Given the description of an element on the screen output the (x, y) to click on. 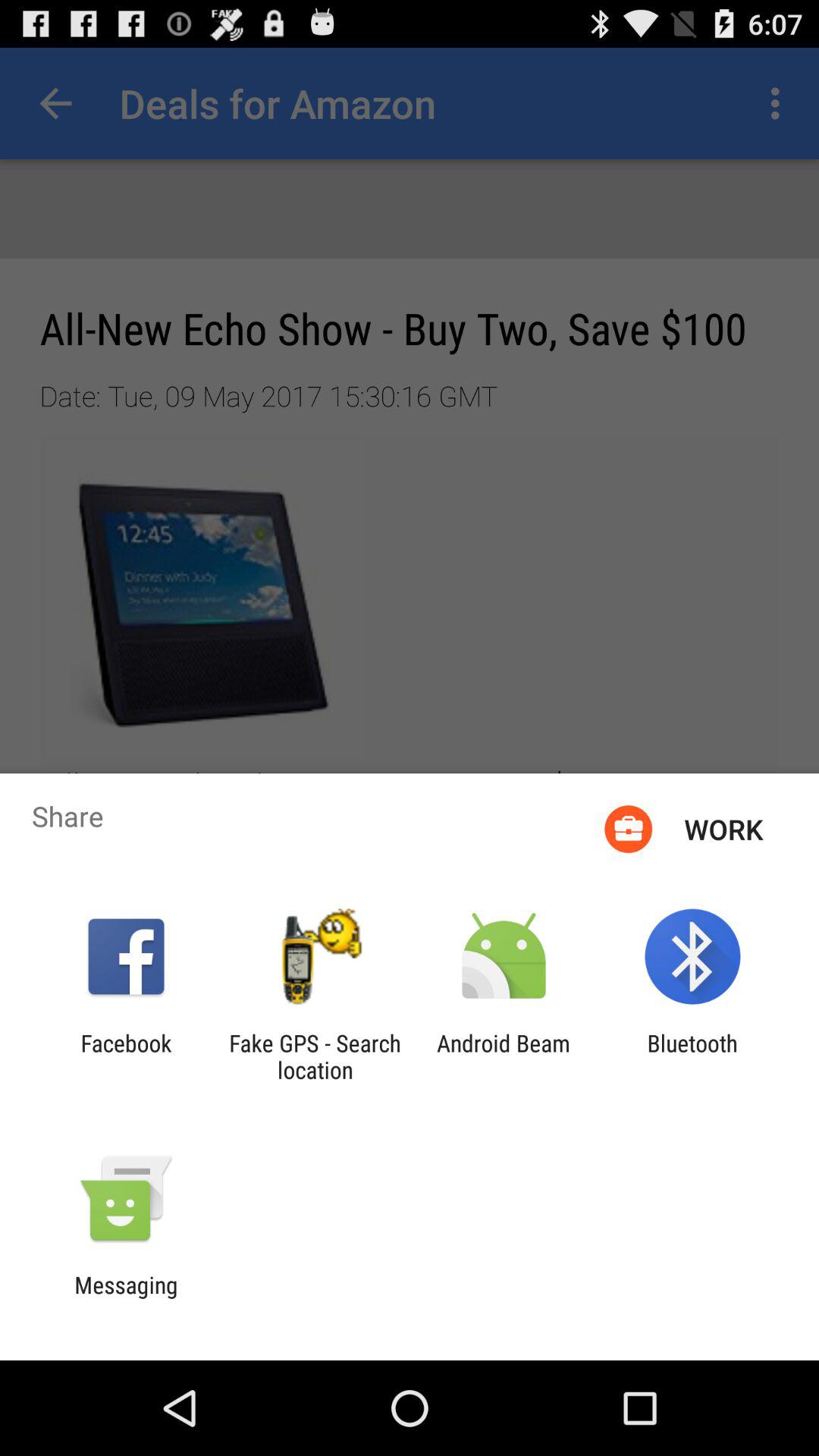
tap the app to the left of android beam app (314, 1056)
